Given the description of an element on the screen output the (x, y) to click on. 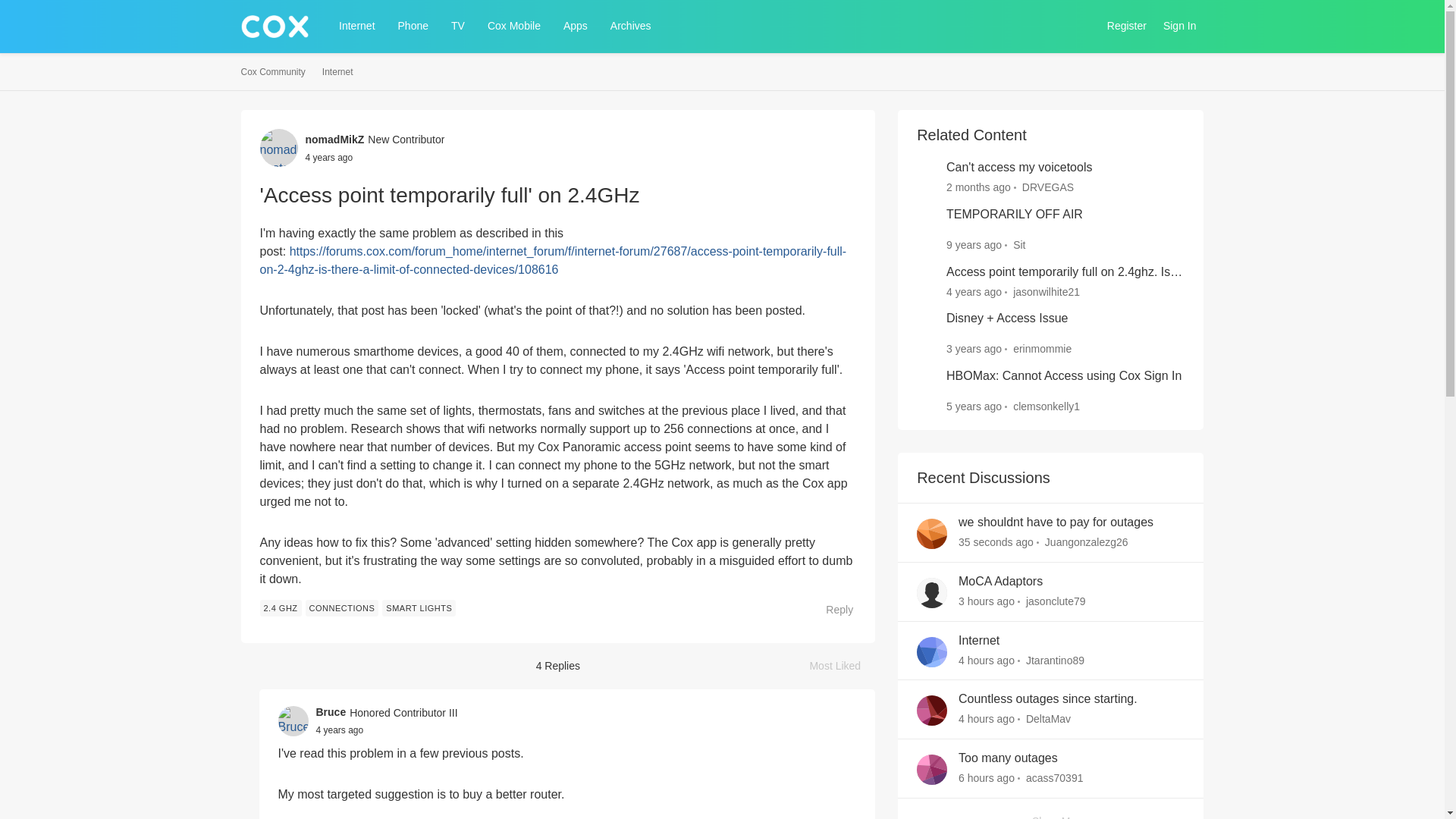
TV (457, 26)
nomadMikZ (334, 139)
April 27, 2021 at 1:08 AM (328, 156)
HBOMax: Cannot Access using Cox Sign In (1063, 376)
Archives (630, 26)
August 15, 2024 at 2:11 AM (995, 541)
Skip to content (291, 60)
May 24, 2016 at 1:27 PM (973, 244)
November 24, 2020 at 10:21 PM (973, 291)
